Given the description of an element on the screen output the (x, y) to click on. 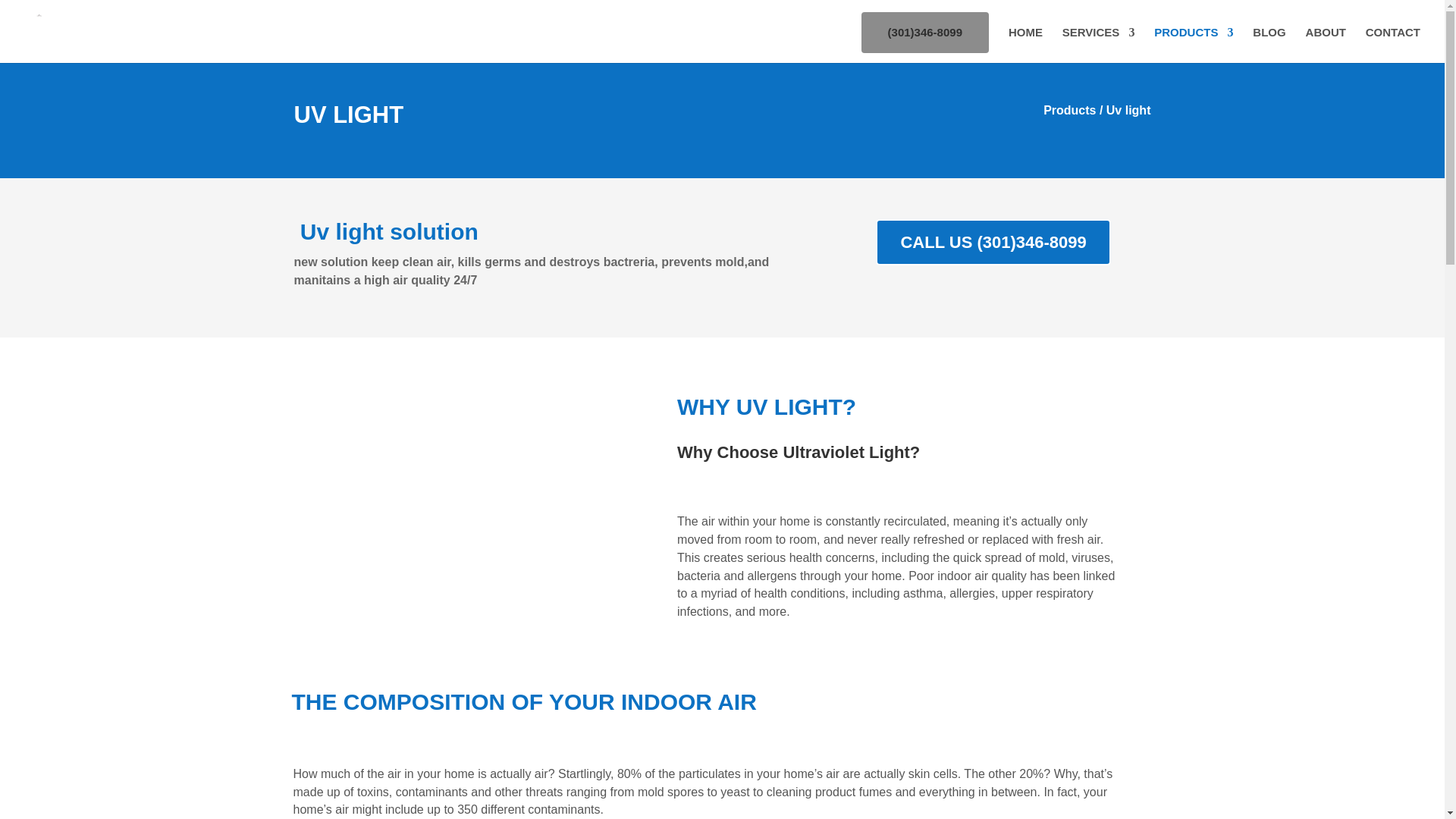
HOME (1025, 45)
SERVICES (1098, 45)
BLOG (1268, 45)
ABOUT (1325, 45)
PRODUCTS (1193, 45)
CONTACT (1393, 45)
uv2 (457, 520)
